Given the description of an element on the screen output the (x, y) to click on. 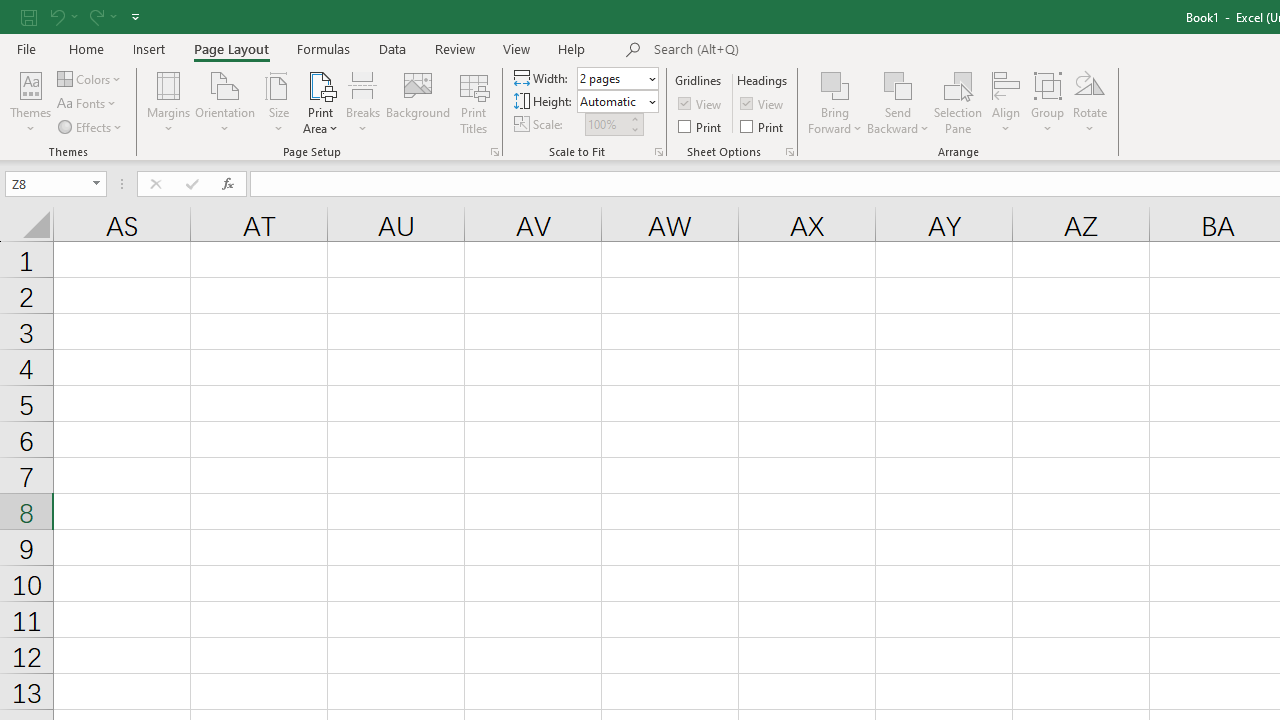
Width (611, 78)
Name Box (46, 183)
View (763, 103)
Rotate (1089, 102)
File Tab (26, 48)
More (633, 118)
Undo (56, 15)
System (10, 11)
Group (1047, 102)
